Given the description of an element on the screen output the (x, y) to click on. 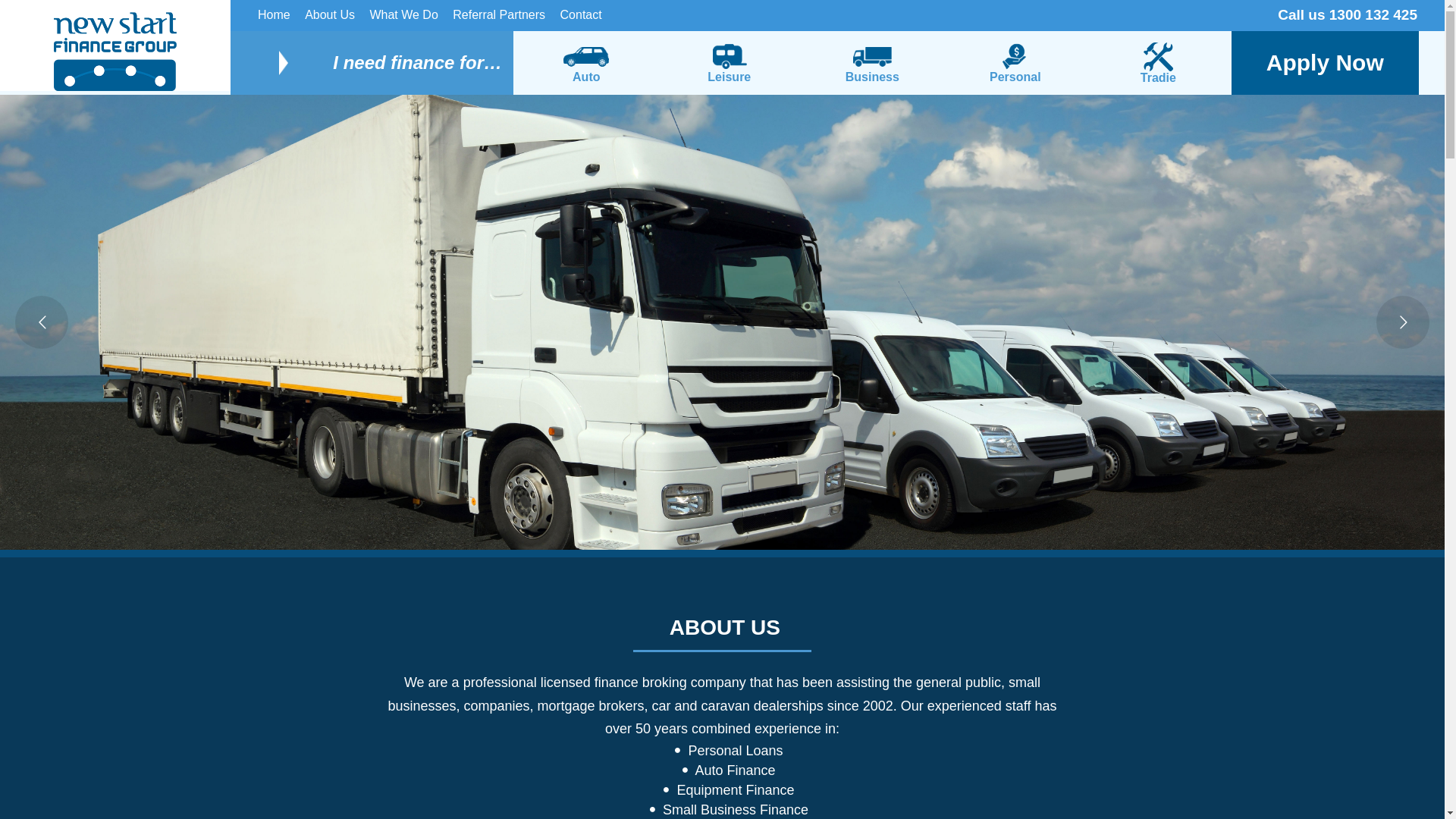
About Us Element type: text (329, 19)
Auto Element type: text (586, 62)
Contact Element type: text (581, 19)
Personal Element type: text (1015, 62)
Call us 1300 132 425 Element type: text (1349, 15)
Referral Partners Element type: text (498, 19)
Apply Now Element type: text (1324, 62)
Business Element type: text (872, 62)
What We Do Element type: text (403, 19)
Home Element type: text (273, 19)
Leisure Element type: text (729, 62)
Tradie Element type: text (1158, 62)
